Given the description of an element on the screen output the (x, y) to click on. 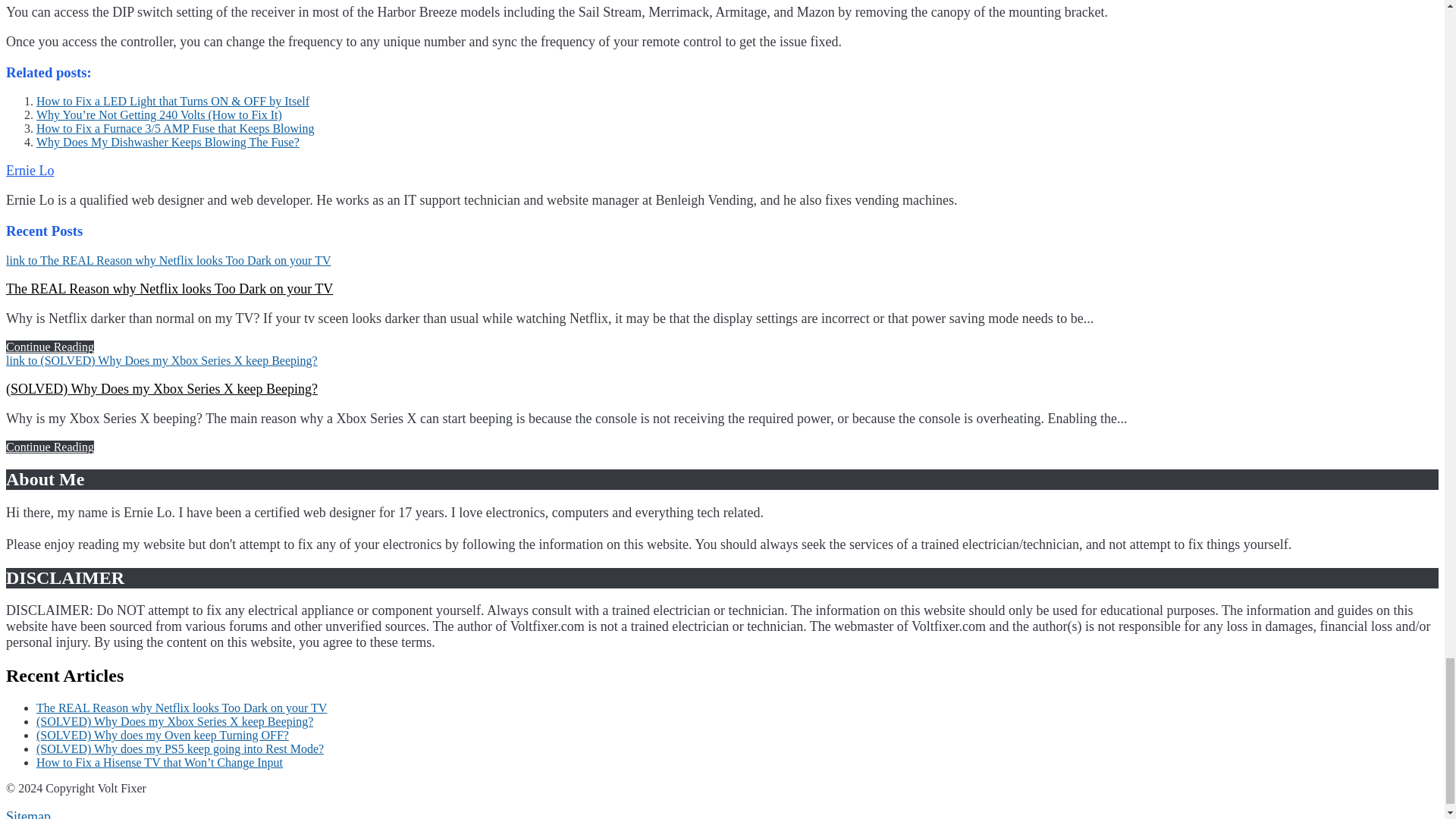
Why Does My Dishwasher Keeps Blowing The Fuse? (167, 141)
The REAL Reason why Netflix looks Too Dark on your TV (169, 288)
Ernie Lo (29, 170)
Continue Reading (49, 346)
